Given the description of an element on the screen output the (x, y) to click on. 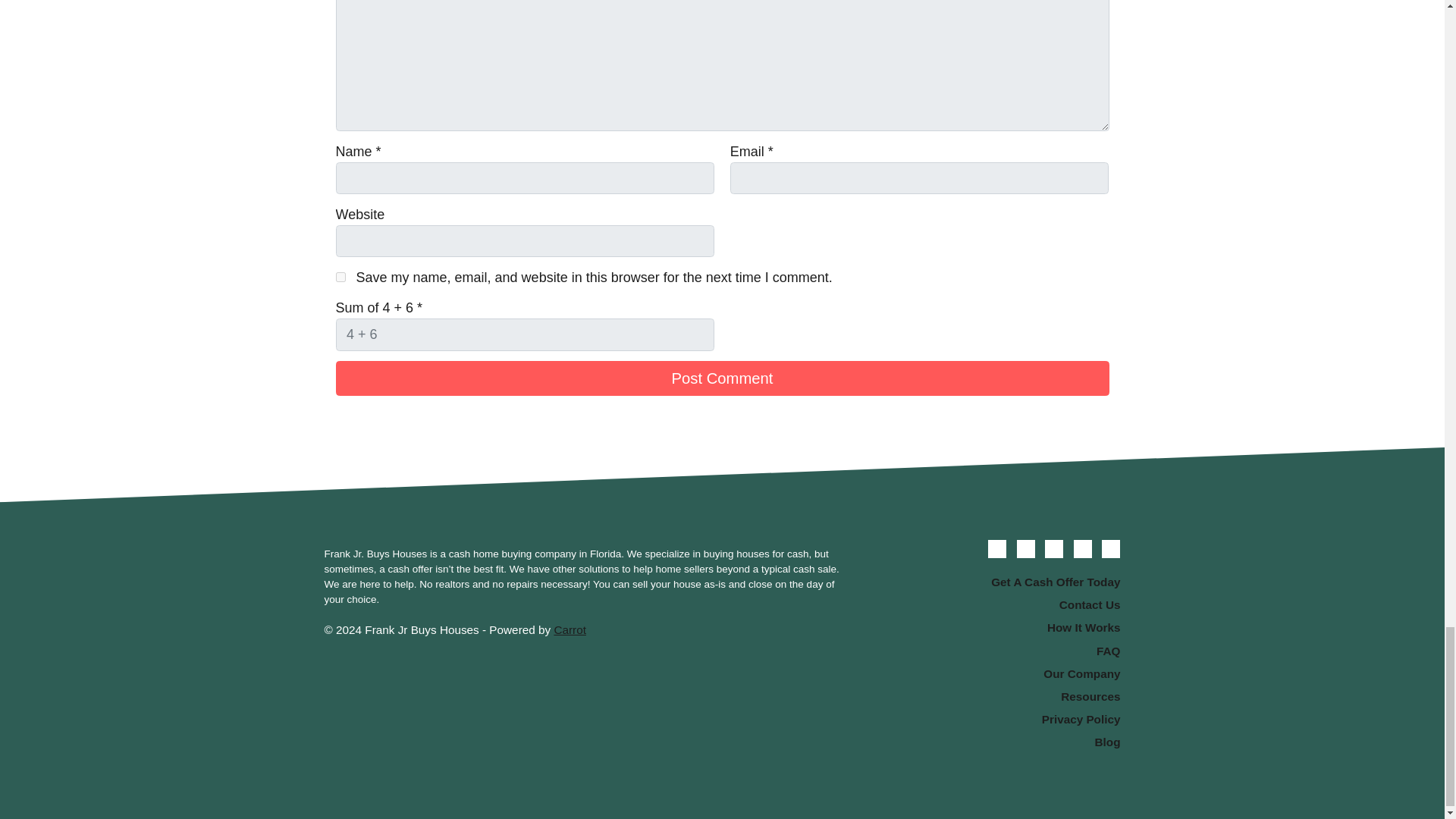
yes (339, 276)
Resources (995, 696)
Contact Us (995, 605)
Instagram (1110, 548)
Post Comment (721, 378)
Blog (995, 742)
FAQ (995, 650)
Get A Cash Offer Today (995, 582)
Privacy Policy (995, 719)
How It Works (995, 628)
